Given the description of an element on the screen output the (x, y) to click on. 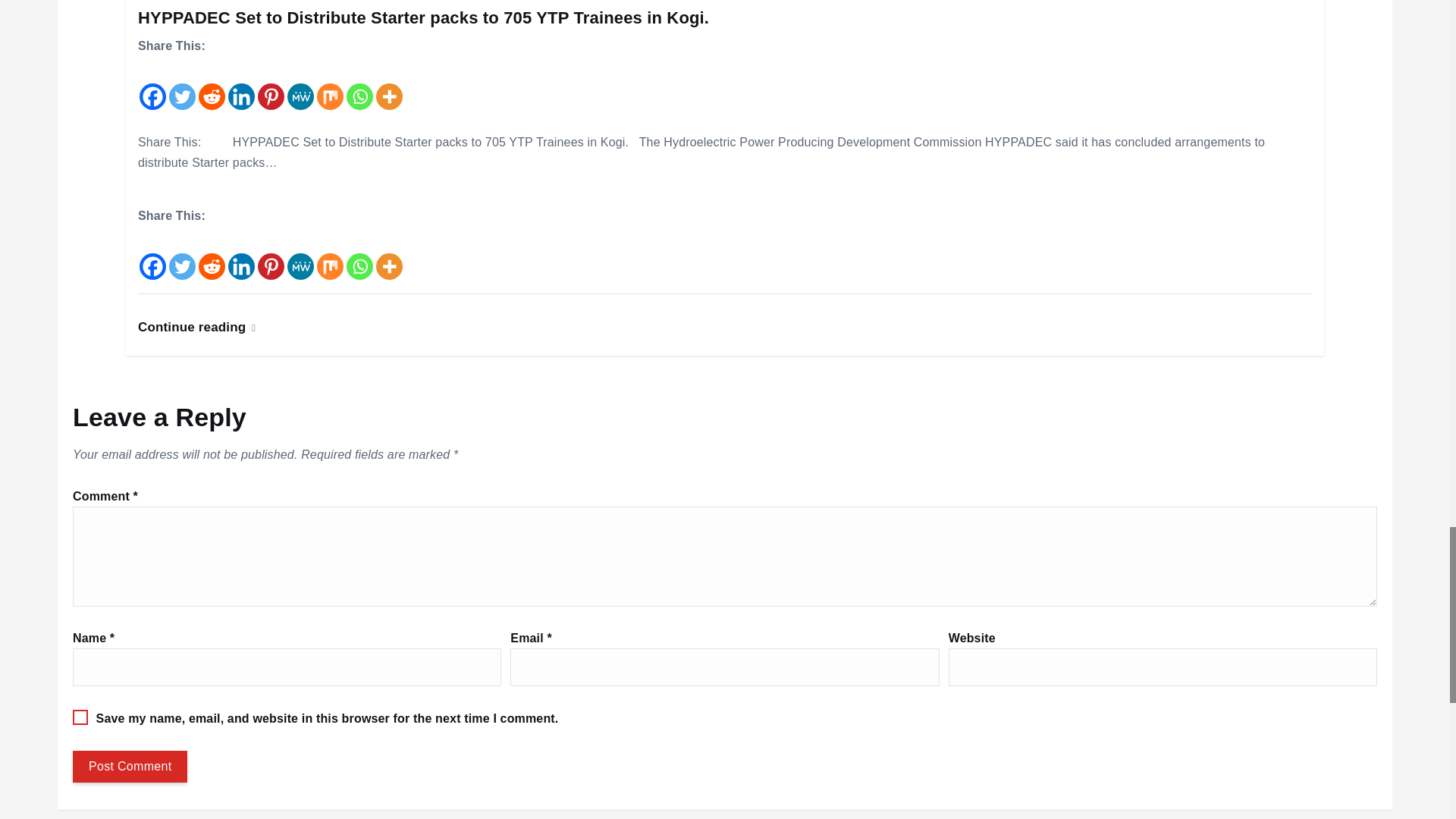
yes (79, 717)
Post Comment (129, 766)
